Given the description of an element on the screen output the (x, y) to click on. 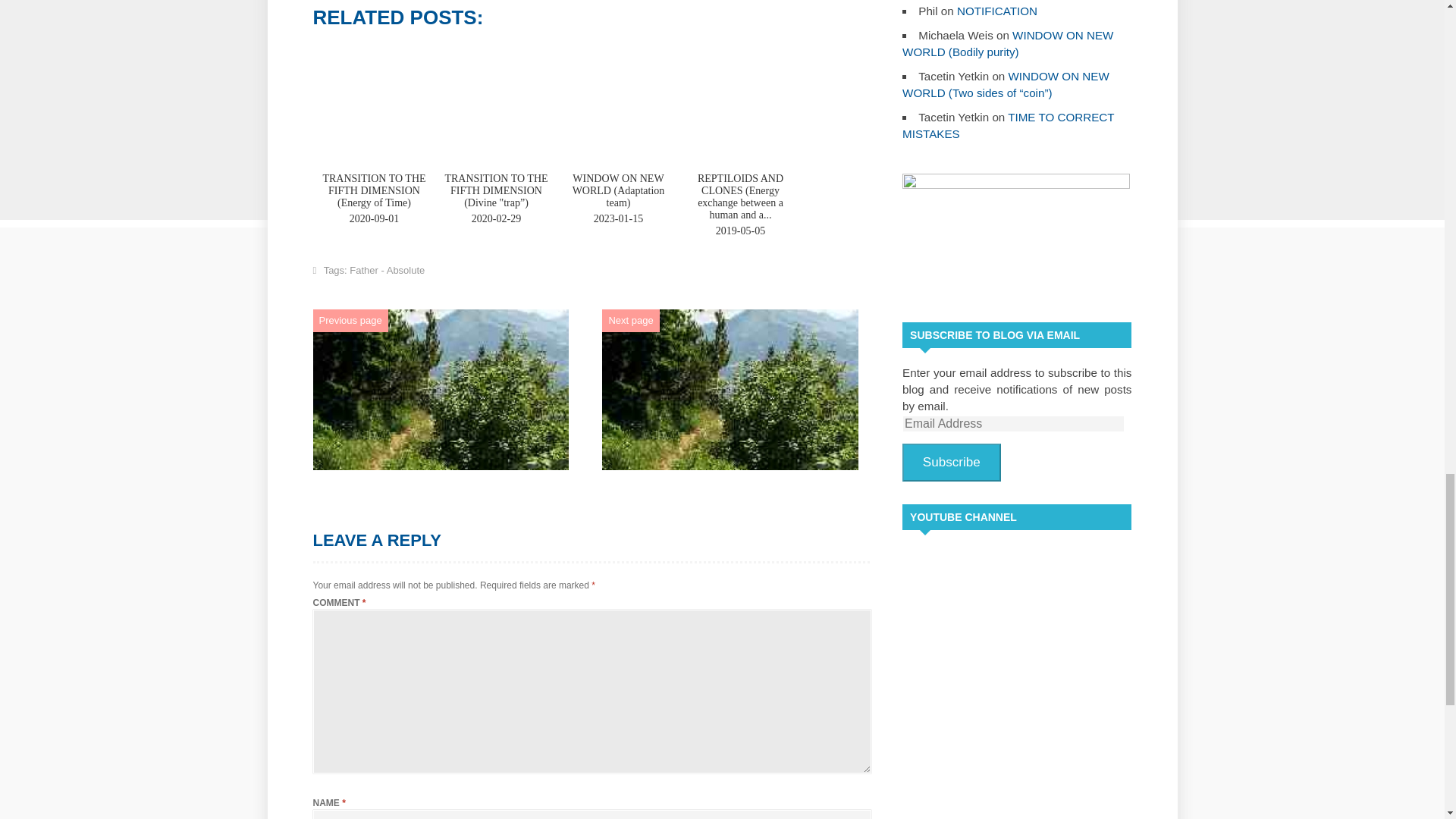
Next page (630, 319)
Previous page (349, 319)
Father - Absolute (387, 270)
